Given the description of an element on the screen output the (x, y) to click on. 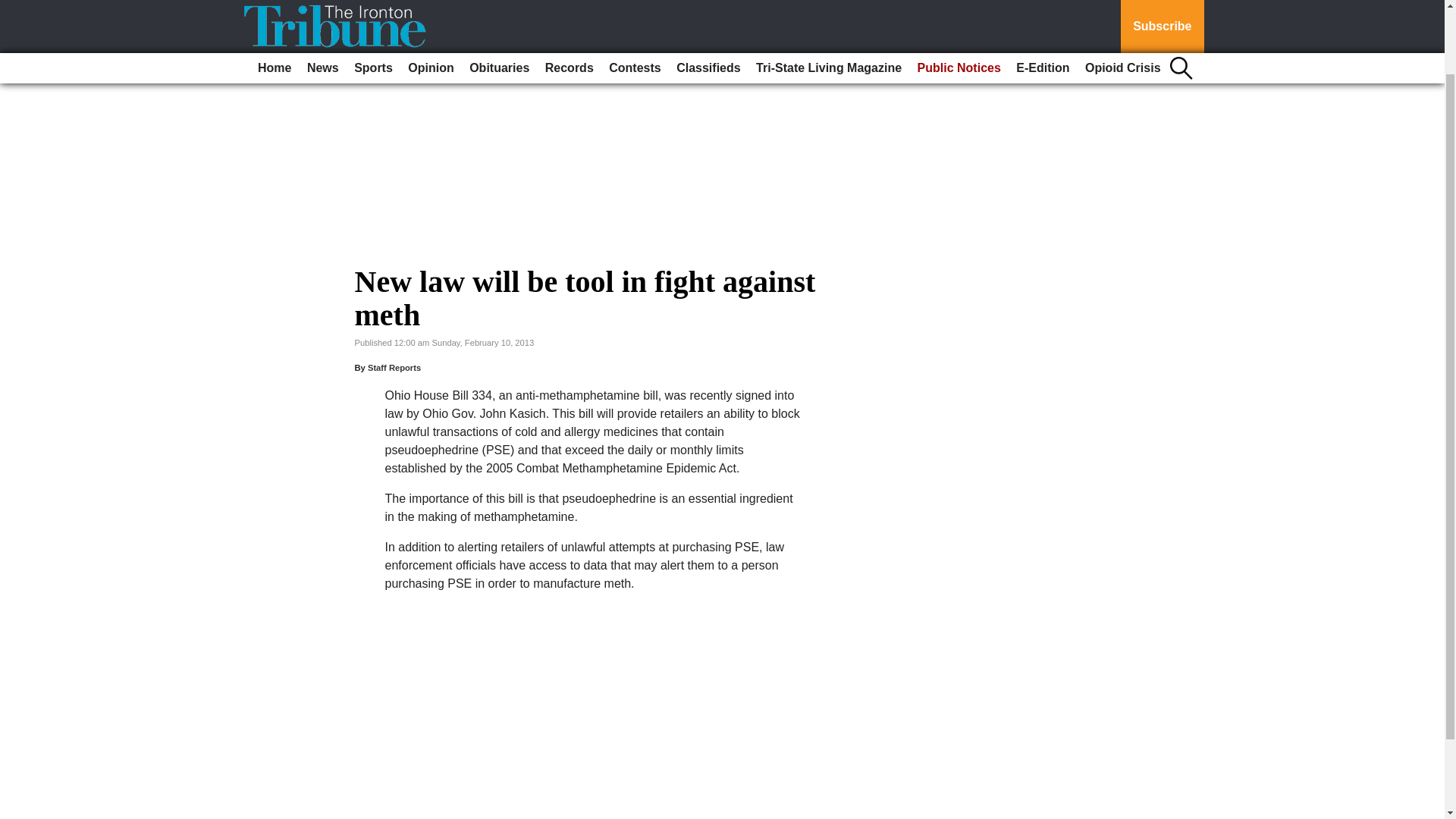
Public Notices (959, 2)
Records (568, 2)
Classifieds (707, 2)
E-Edition (1042, 2)
News (323, 2)
Staff Reports (394, 367)
Sports (372, 2)
Tri-State Living Magazine (828, 2)
Contests (634, 2)
Opinion (430, 2)
Opioid Crisis (1122, 2)
Obituaries (499, 2)
Home (274, 2)
